Given the description of an element on the screen output the (x, y) to click on. 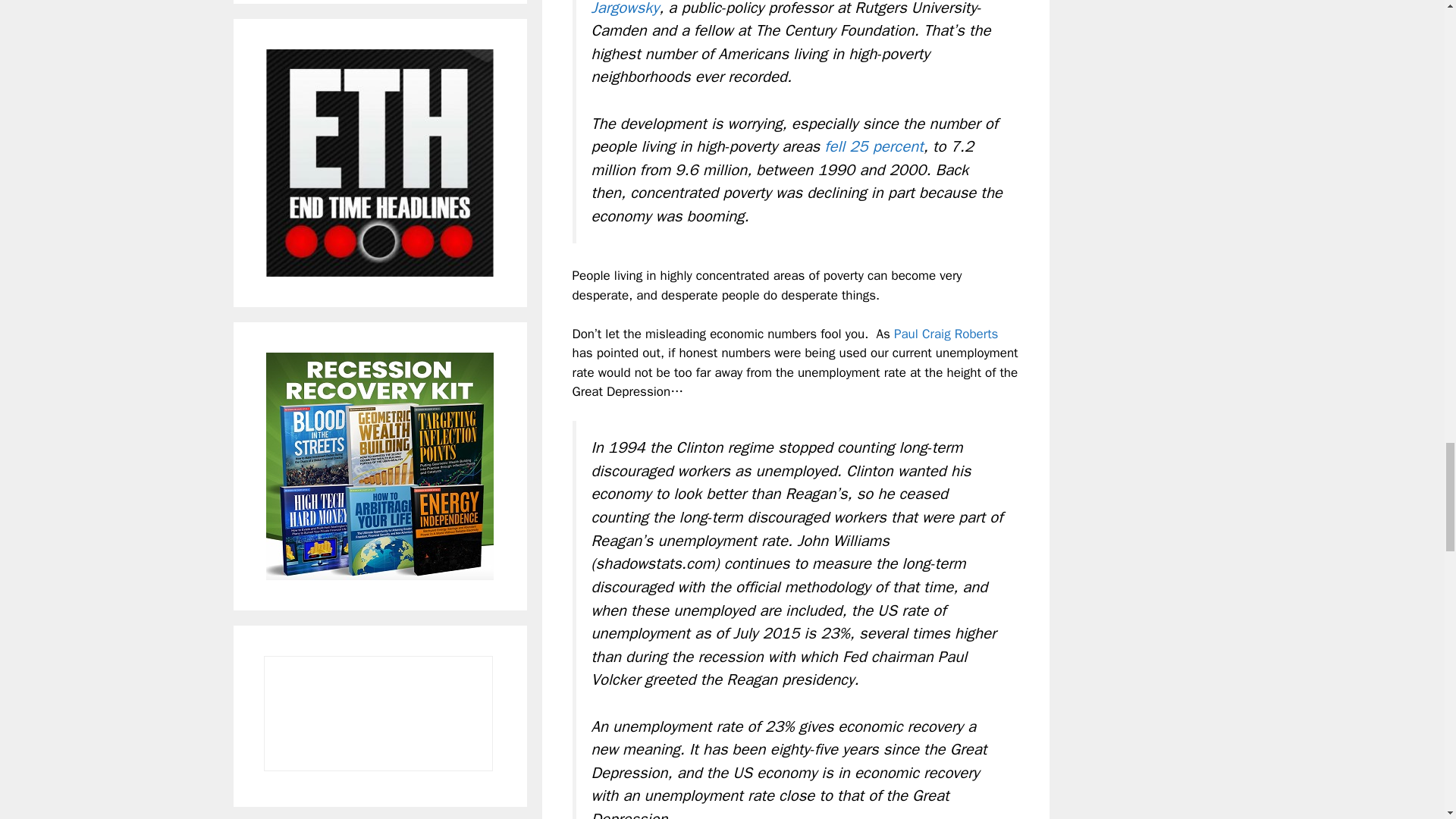
according to a new analysis of census data by Paul Jargowsky (790, 8)
 fell 25 percent (871, 146)
Paul Craig Roberts (945, 333)
fell 25 percent (871, 146)
according to a new analysis of census data by Paul Jargowsky (790, 8)
